Given the description of an element on the screen output the (x, y) to click on. 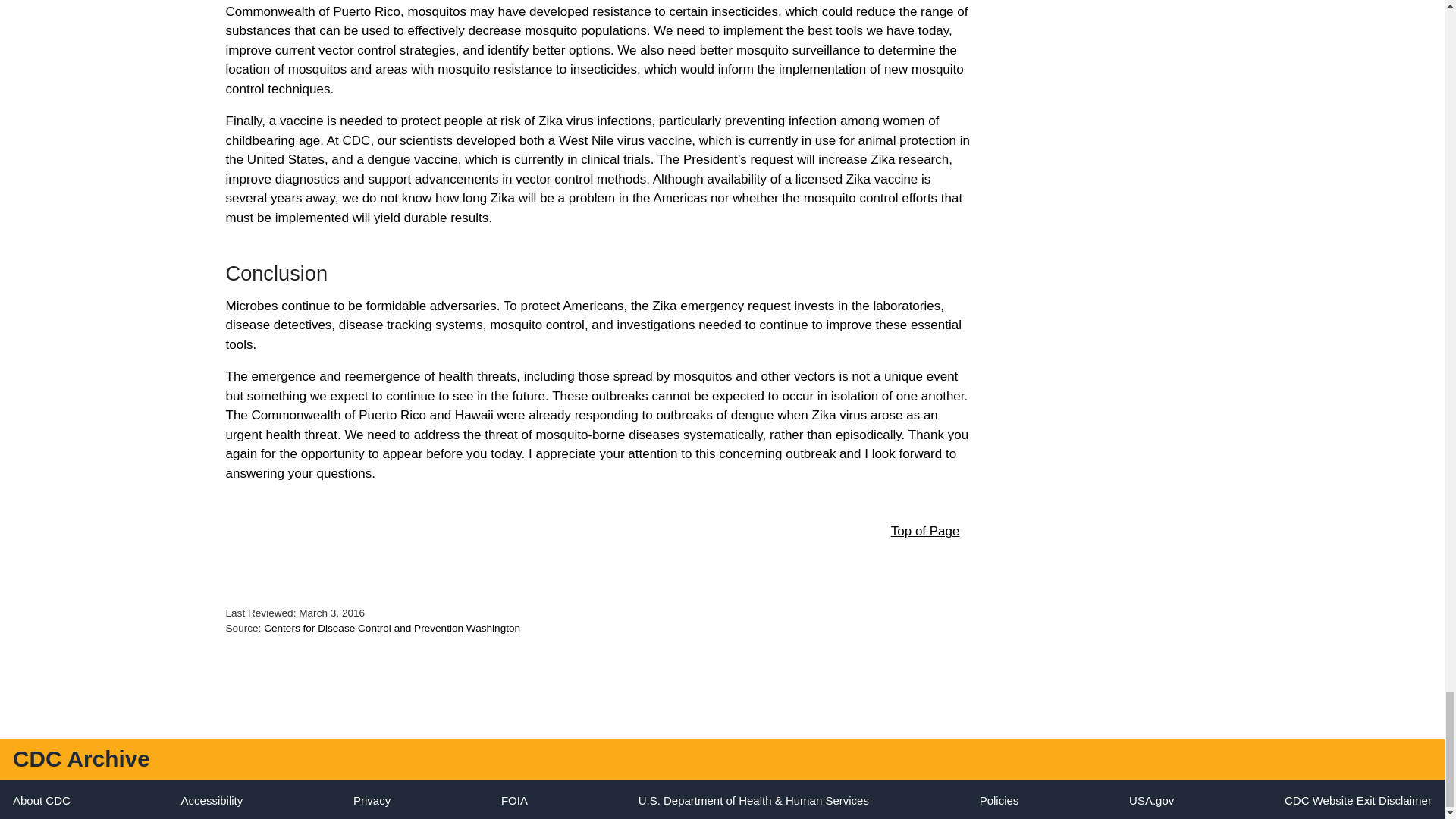
CDC Twenty Four Seven (41, 799)
CDC Website Exit Disclaimer (1357, 799)
CDC Policies and Regulations (999, 799)
CDC Accessibility (211, 799)
CDC Digital Media Channel Privacy Policy Notice (371, 799)
FOIA (513, 799)
USA.gov (1151, 799)
Centers for Disease Control and Prevention Washington (391, 627)
About CDC (41, 799)
CDC Archive Home (81, 758)
Policies (999, 799)
USA.gov (1151, 799)
Privacy (371, 799)
CDC Archive (81, 758)
Accessibility (211, 799)
